Given the description of an element on the screen output the (x, y) to click on. 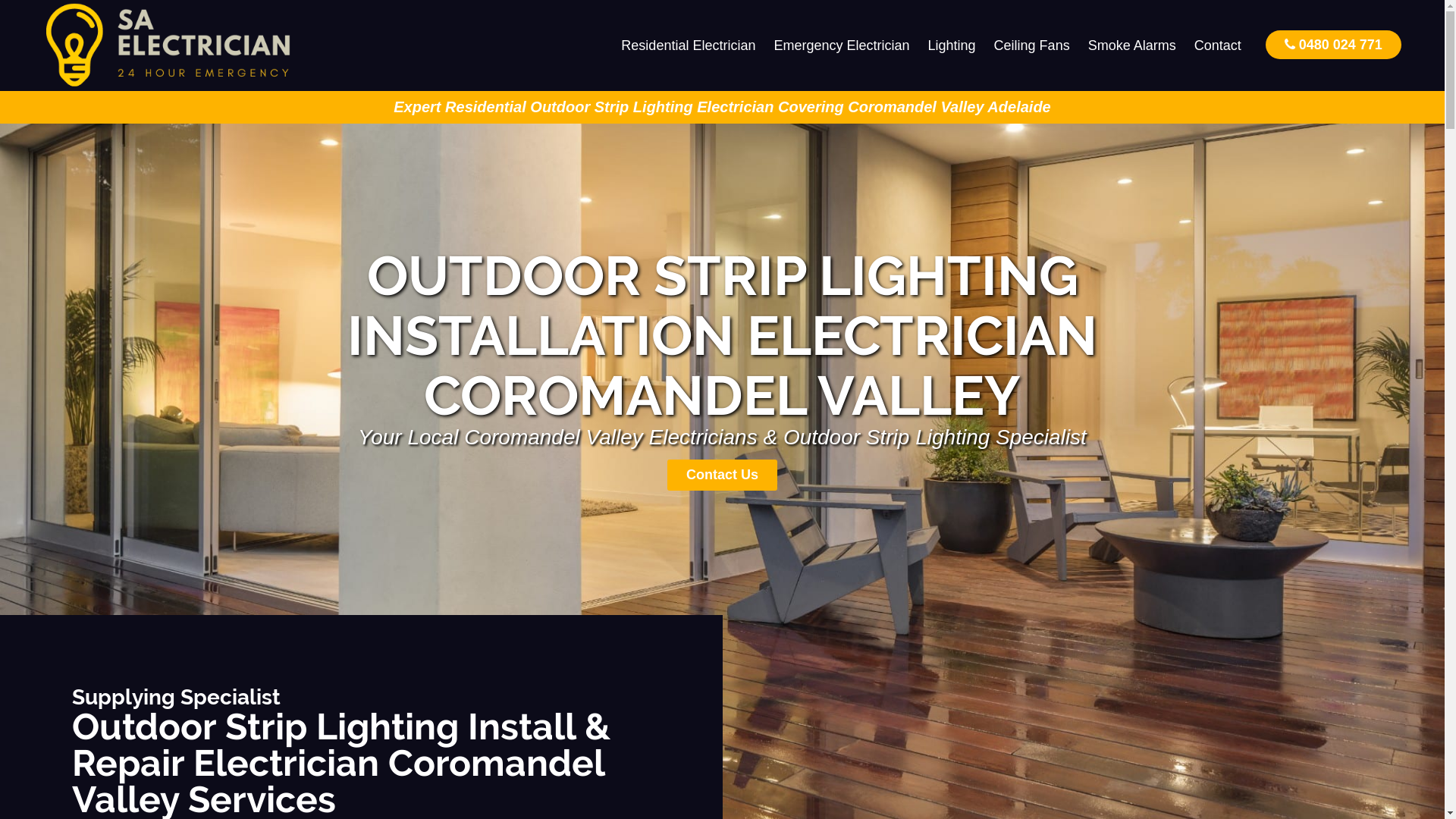
Ceiling Fans Element type: text (1032, 45)
Contact Element type: text (1217, 45)
0480 024 771 Element type: text (1333, 44)
Emergency Electrician Element type: text (841, 45)
Contact Us Element type: text (722, 474)
Smoke Alarms Element type: text (1132, 45)
Lighting Element type: text (952, 45)
Residential Electrician Element type: text (687, 45)
